Given the description of an element on the screen output the (x, y) to click on. 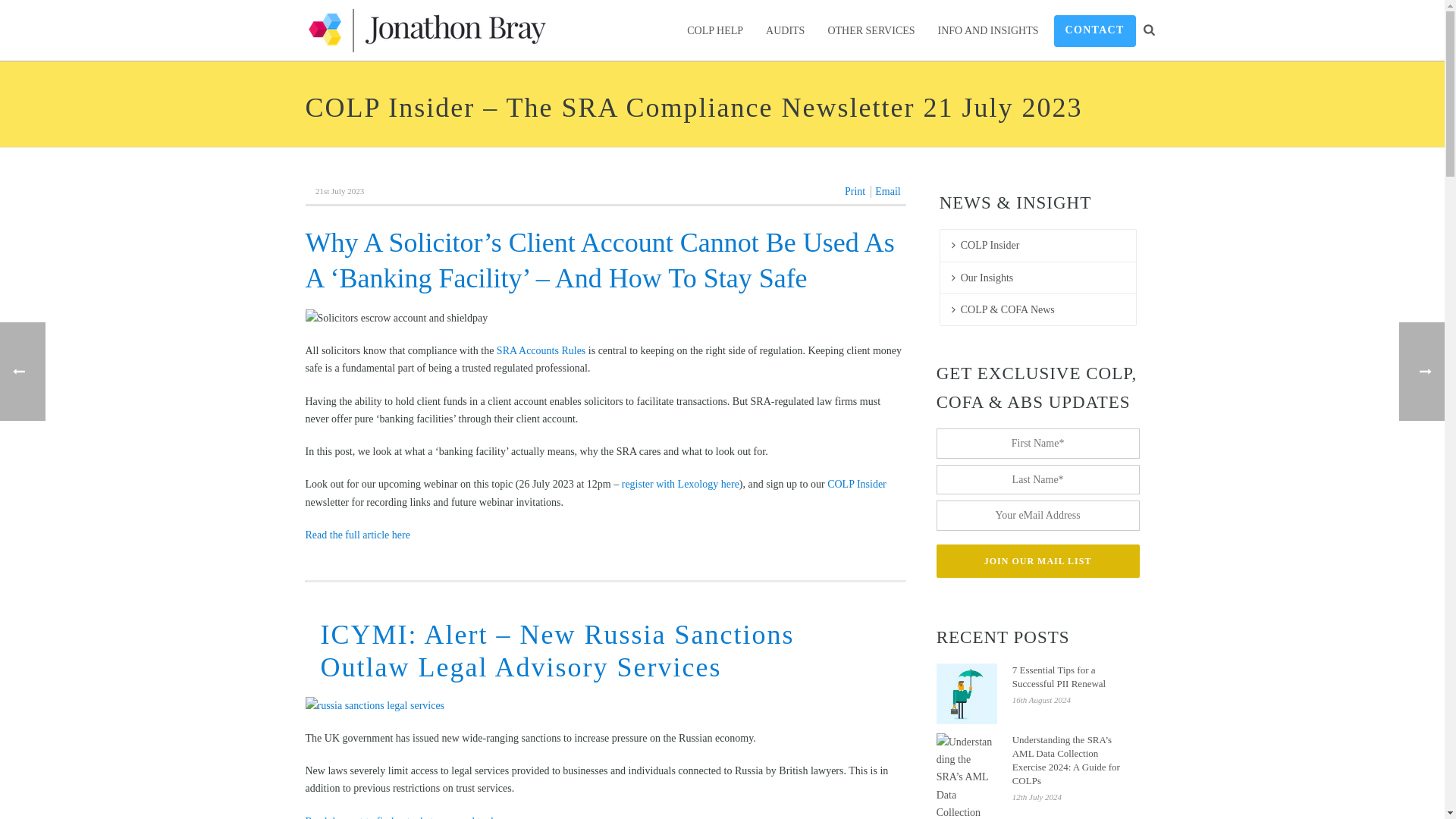
COLP HELP (714, 31)
AUDITS (784, 31)
INFO AND INSIGHTS (987, 31)
SRA Compliance Consultants (425, 29)
CONTACT (1094, 30)
INFO AND INSIGHTS (987, 31)
COLP HELP (714, 31)
AUDITS (784, 31)
OTHER SERVICES (870, 31)
Join Our Mail List (1038, 561)
